Given the description of an element on the screen output the (x, y) to click on. 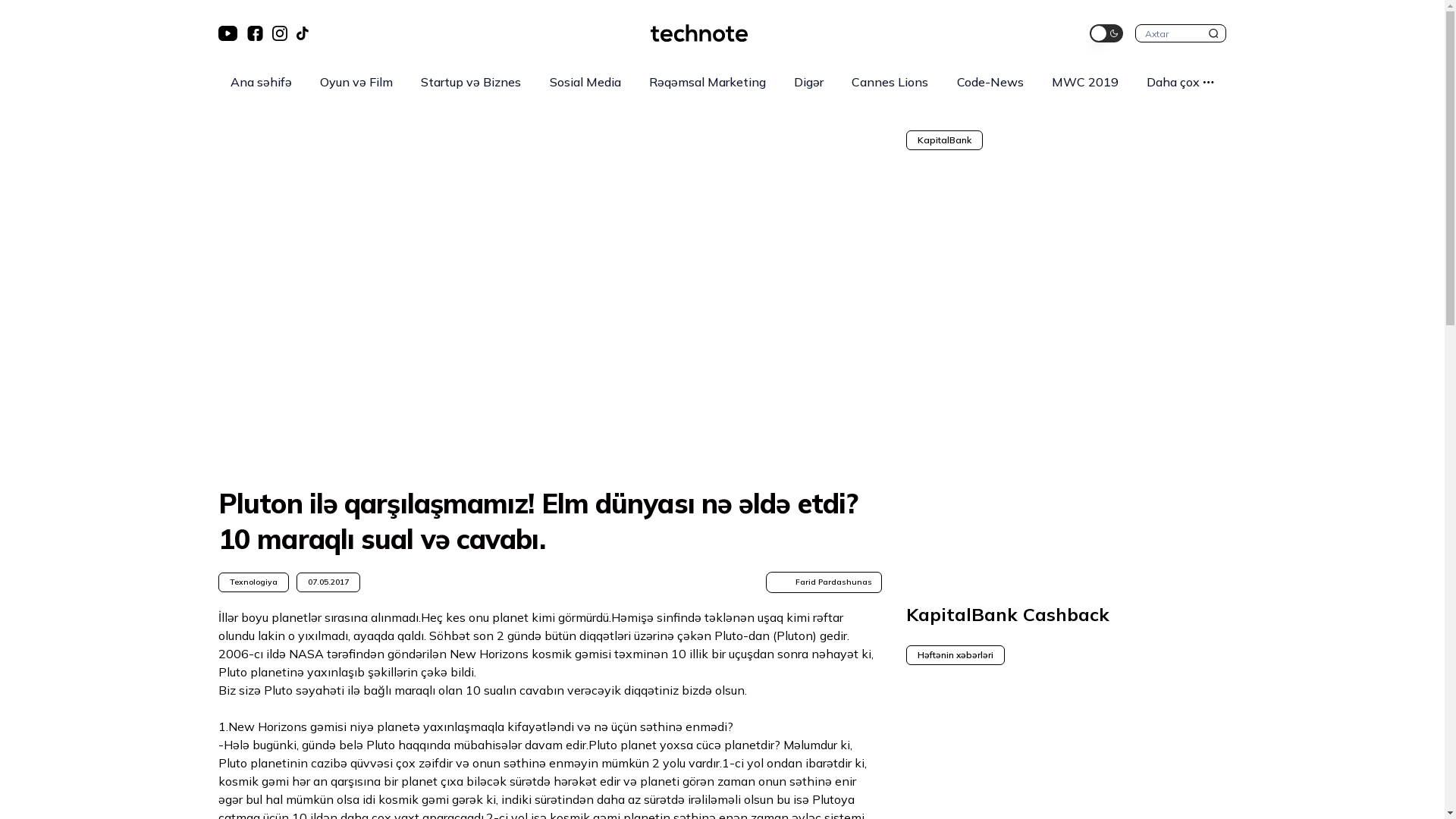
KapitalBank Cashback Element type: text (1066, 614)
Sosial Media Element type: text (585, 81)
MWC 2019 Element type: text (1084, 81)
Code-News Element type: text (989, 81)
on Element type: text (1106, 33)
Cannes Lions Element type: text (889, 81)
